Given the description of an element on the screen output the (x, y) to click on. 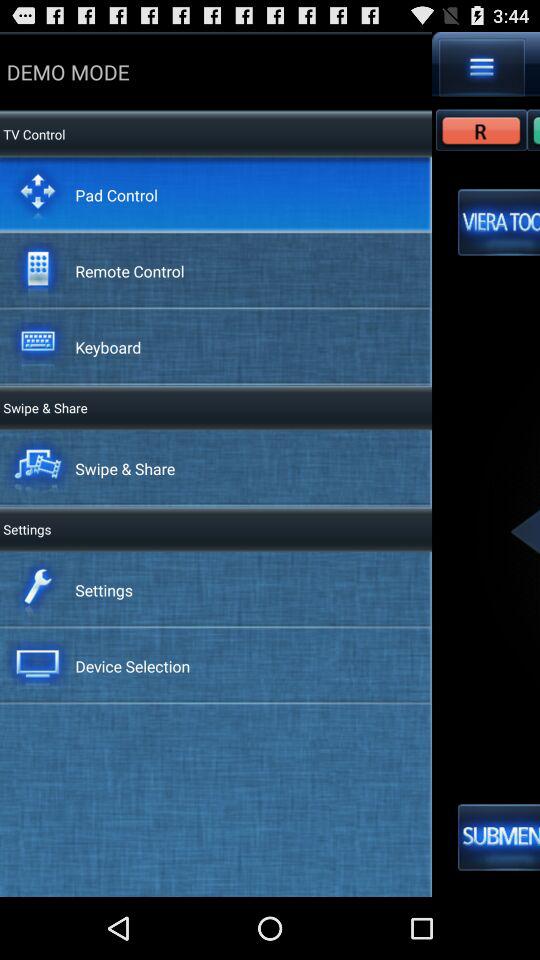
turn on the app to the right of demo mode icon (481, 67)
